Given the description of an element on the screen output the (x, y) to click on. 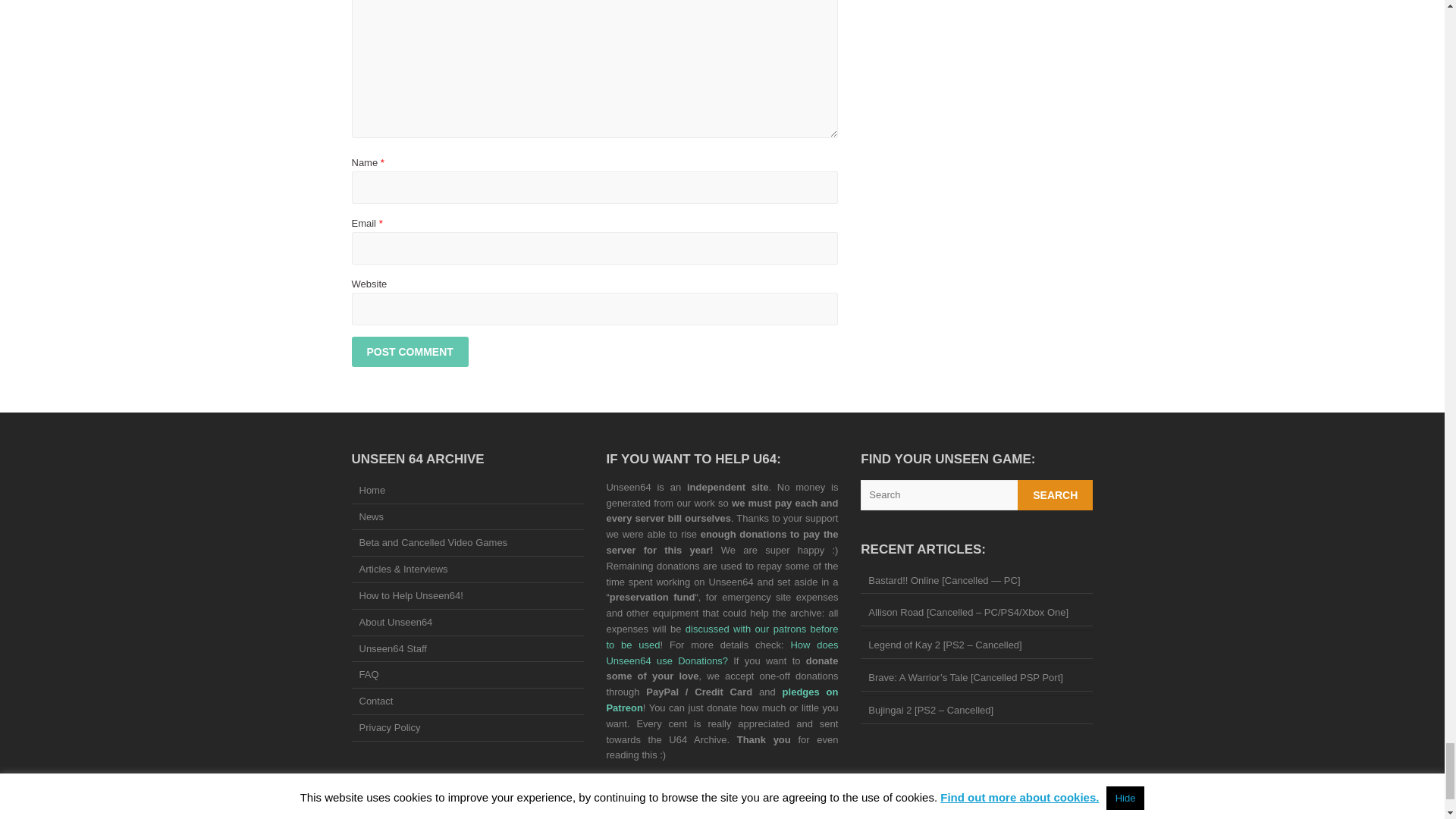
Post Comment (410, 351)
Search (1055, 494)
Search (1055, 494)
